Given the description of an element on the screen output the (x, y) to click on. 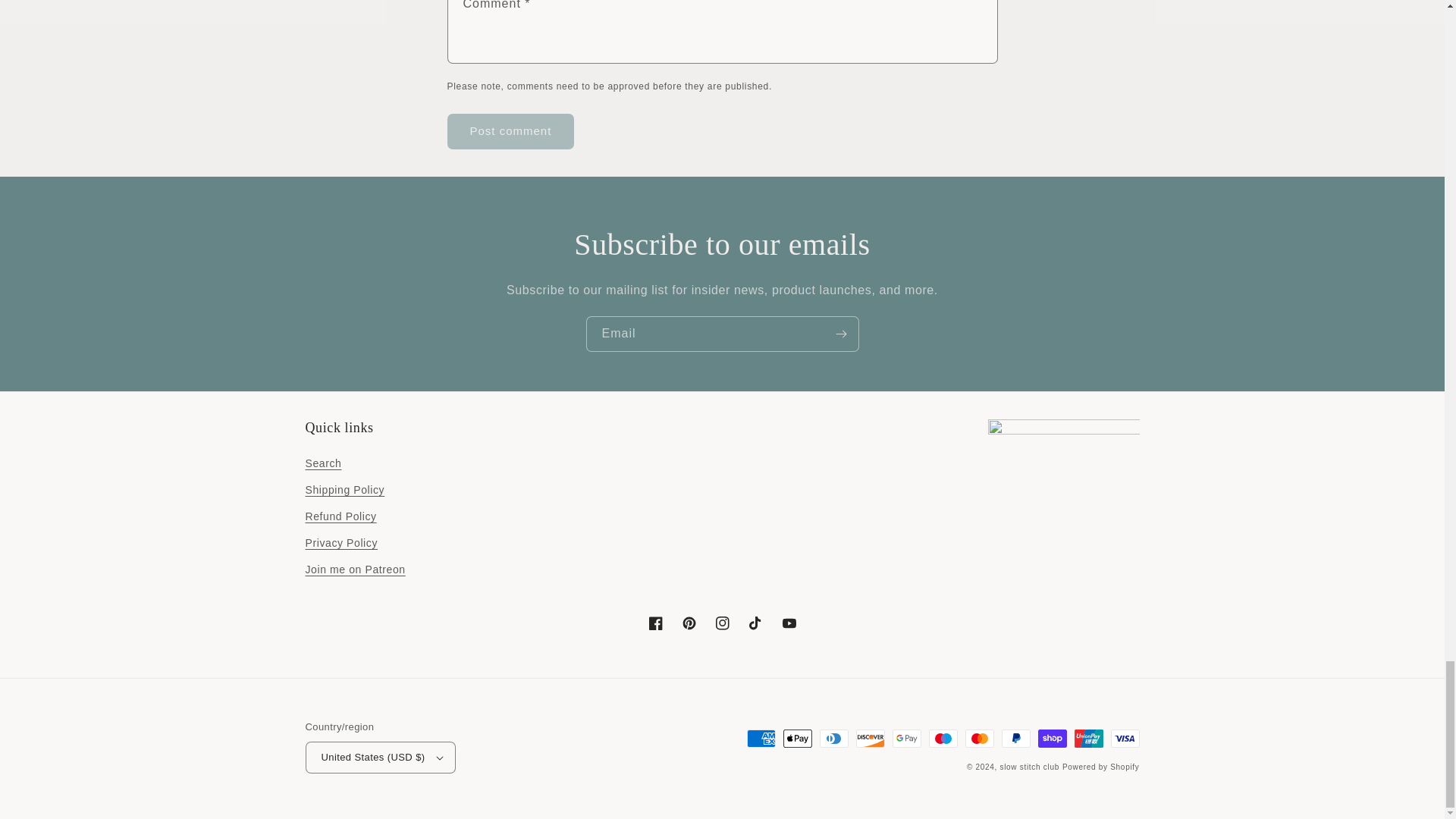
Post comment (510, 131)
Post comment (510, 131)
